Given the description of an element on the screen output the (x, y) to click on. 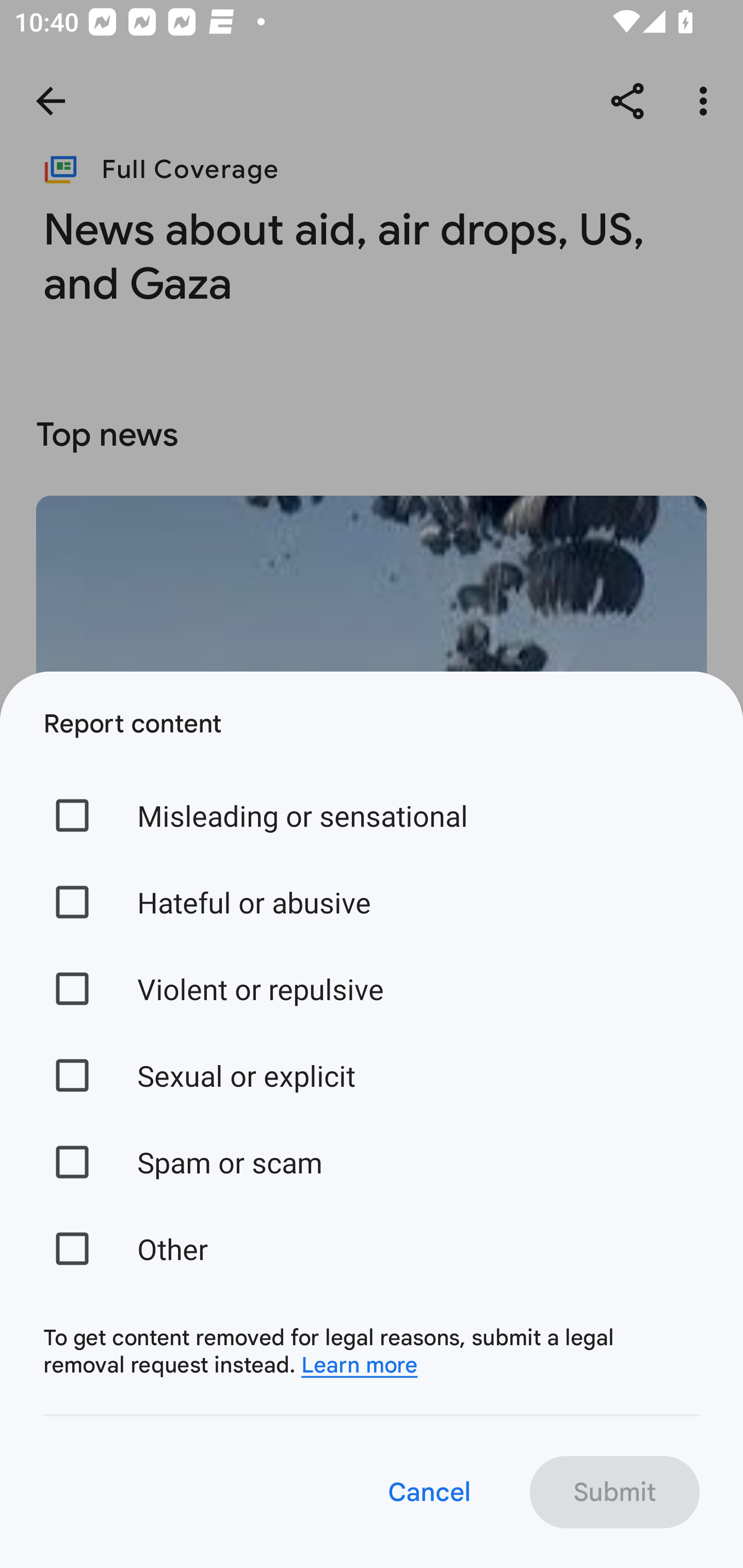
Misleading or sensational (371, 815)
Hateful or abusive (371, 902)
Violent or repulsive (371, 988)
Sexual or explicit (371, 1074)
Spam or scam (371, 1161)
Other (371, 1248)
Cancel (428, 1491)
Submit (614, 1491)
